Given the description of an element on the screen output the (x, y) to click on. 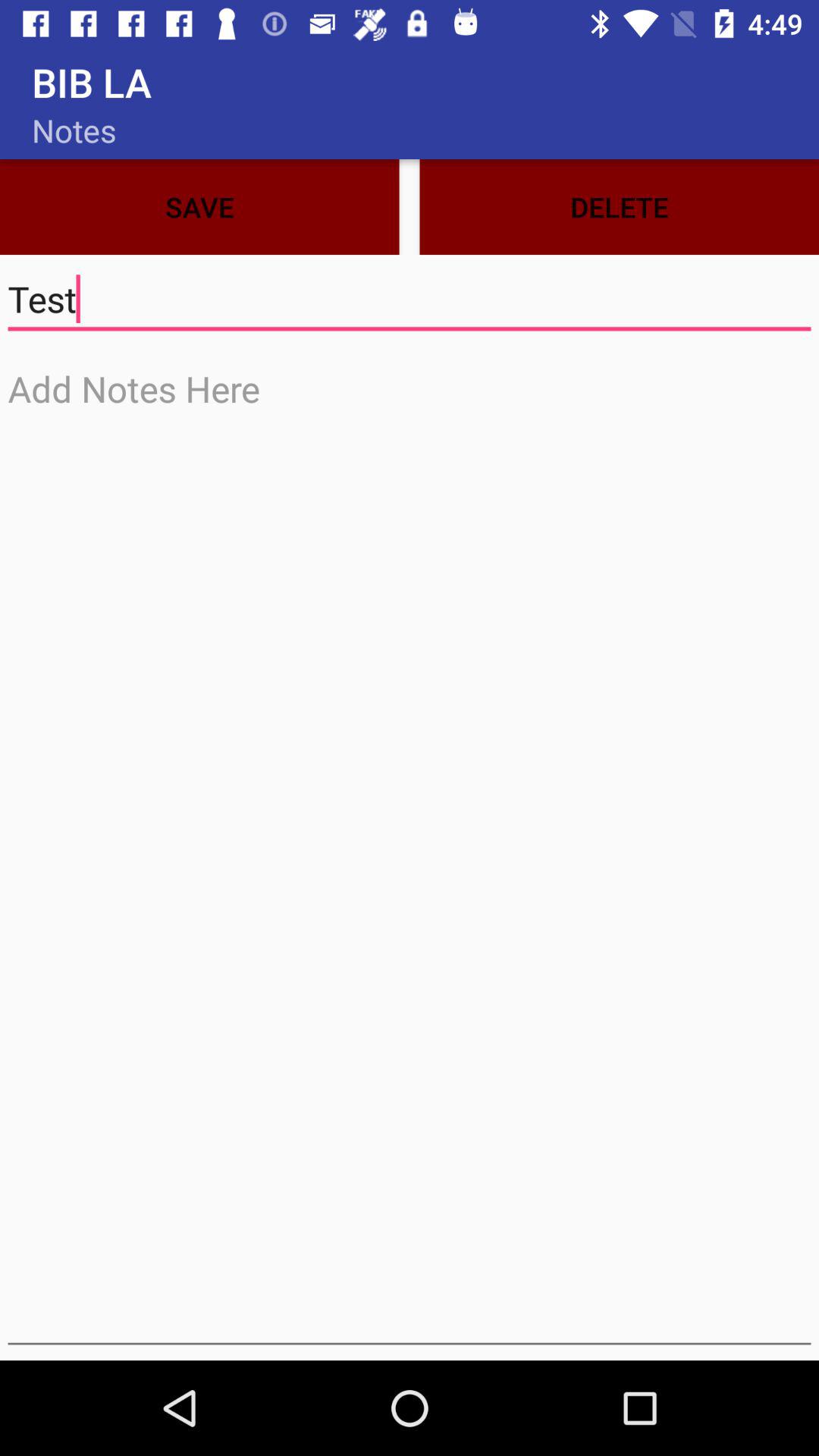
tap the icon below save icon (409, 299)
